Given the description of an element on the screen output the (x, y) to click on. 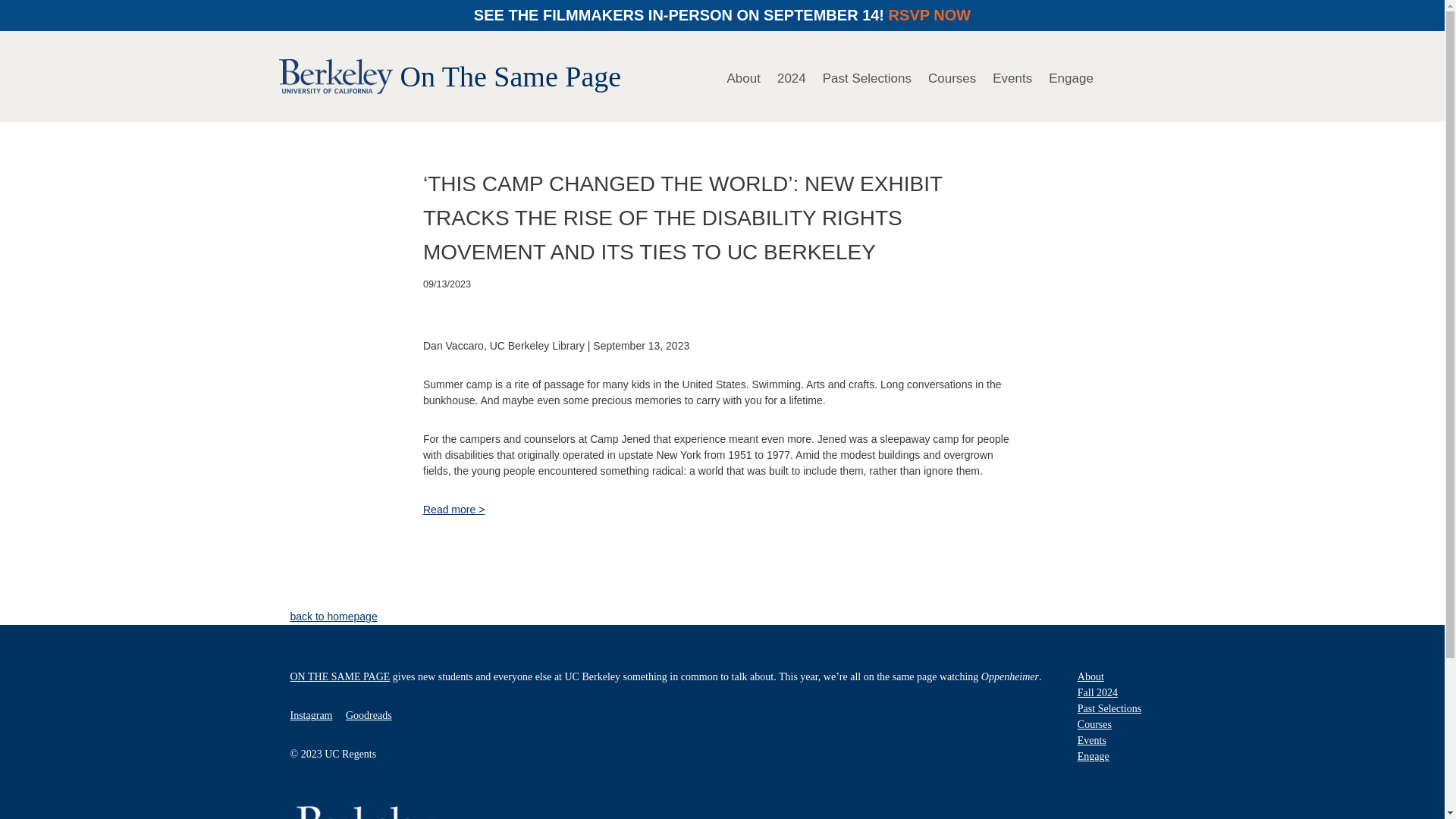
About (743, 76)
Courses (1094, 724)
Goodreads (368, 715)
2024 (791, 76)
On The Same Page (510, 76)
back to homepage (333, 616)
Instagram (310, 715)
ON THE SAME PAGE (339, 676)
Fall 2024 (1097, 692)
About (1090, 676)
Past Selections (866, 76)
Engage (1093, 756)
Past Selections (1109, 708)
Events (1012, 76)
RSVP NOW (929, 14)
